Given the description of an element on the screen output the (x, y) to click on. 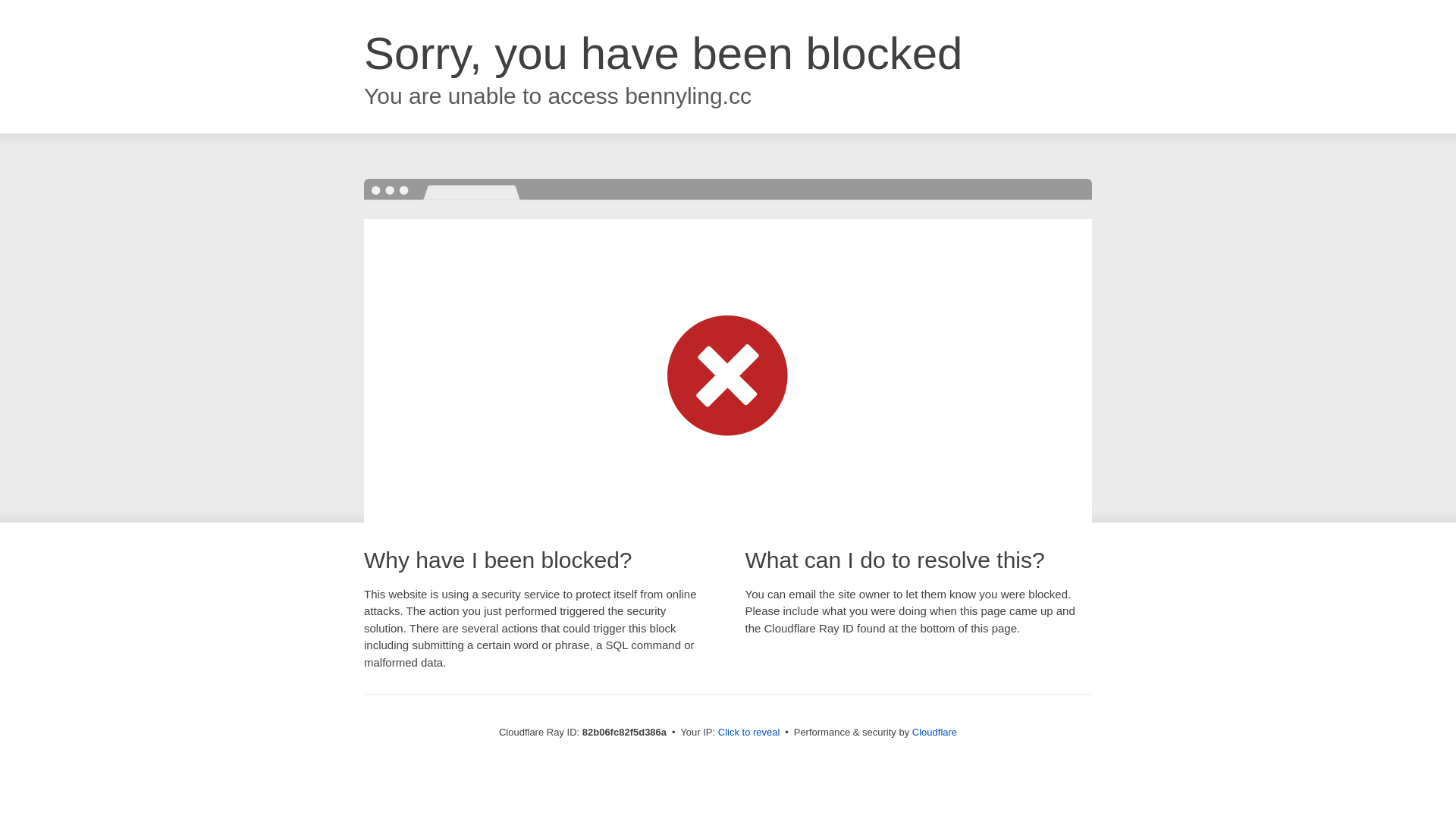
Cloudflare Element type: text (934, 731)
Click to reveal Element type: text (749, 732)
